Given the description of an element on the screen output the (x, y) to click on. 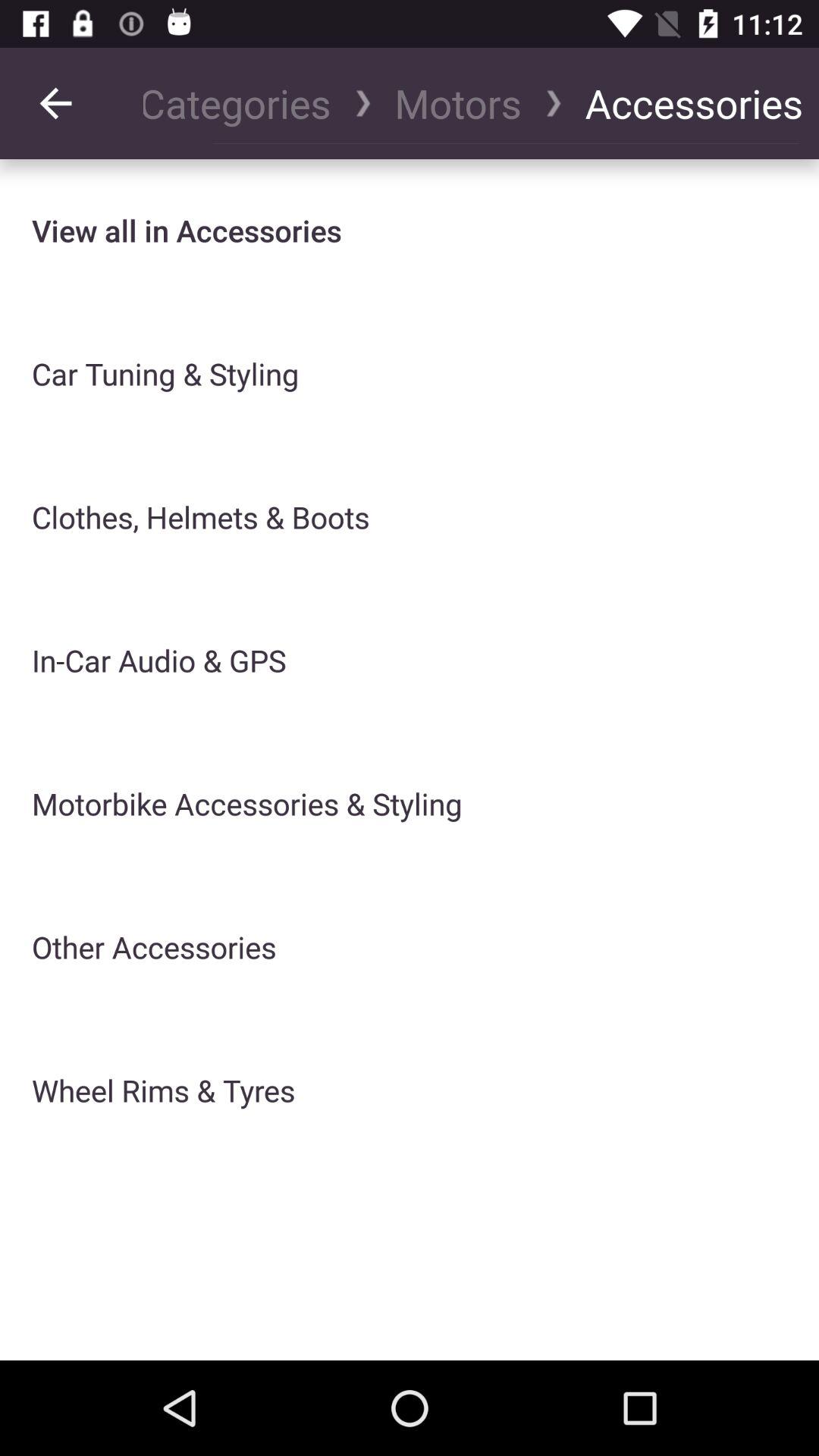
open the item below the other accessories icon (163, 1090)
